Given the description of an element on the screen output the (x, y) to click on. 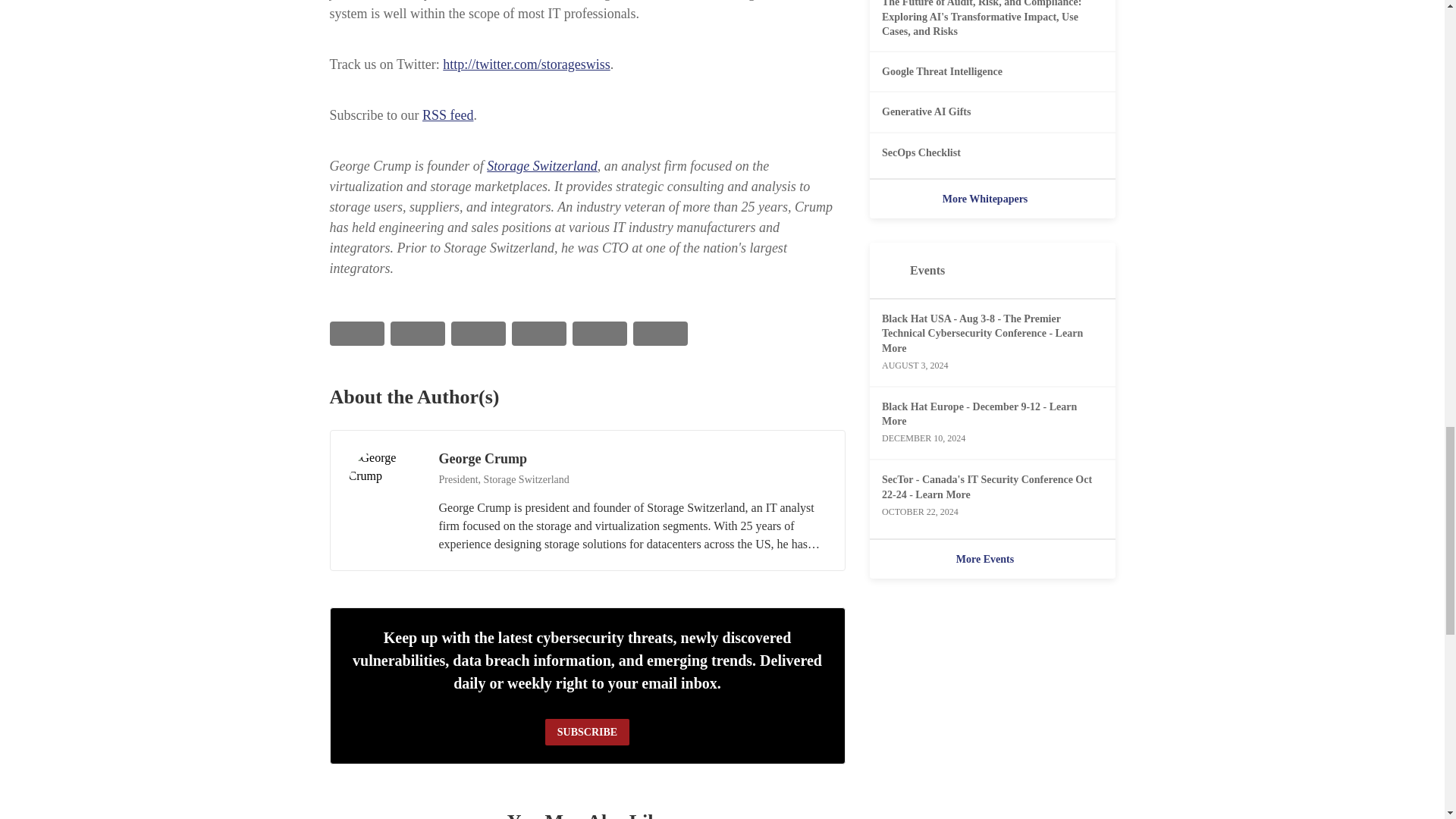
George Crump (384, 484)
